Given the description of an element on the screen output the (x, y) to click on. 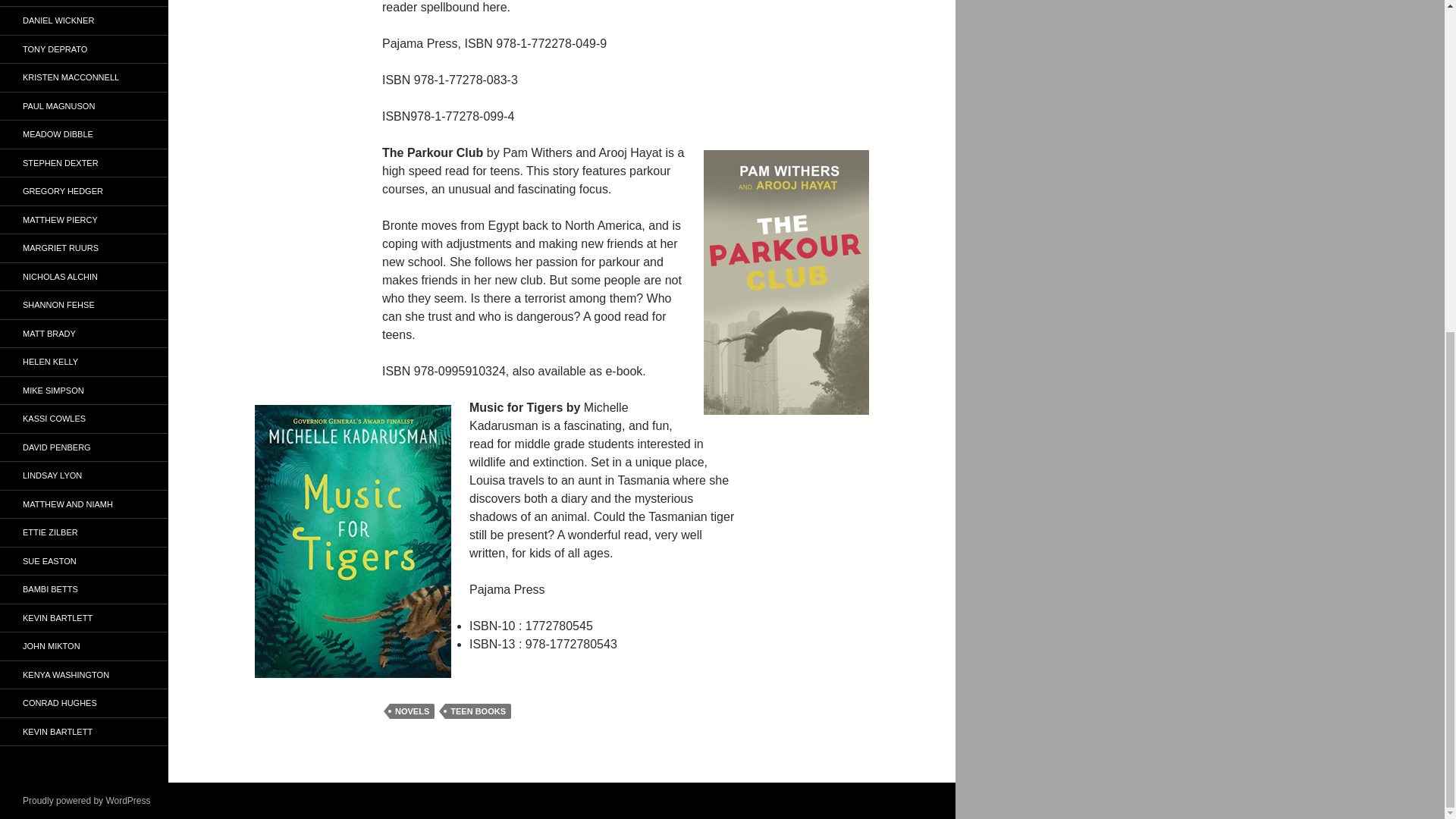
MATT BRADY (84, 333)
ALLISON POIROT (84, 2)
DANIEL WICKNER (84, 20)
STEPHEN DEXTER (84, 163)
GREGORY HEDGER (84, 191)
MIKE SIMPSON (84, 390)
MEADOW DIBBLE (84, 134)
TEEN BOOKS (478, 711)
NOVELS (411, 711)
SHANNON FEHSE (84, 305)
PAUL MAGNUSON (84, 105)
NICHOLAS ALCHIN (84, 276)
MARGRIET RUURS (84, 248)
HELEN KELLY (84, 361)
TONY DEPRATO (84, 49)
